Given the description of an element on the screen output the (x, y) to click on. 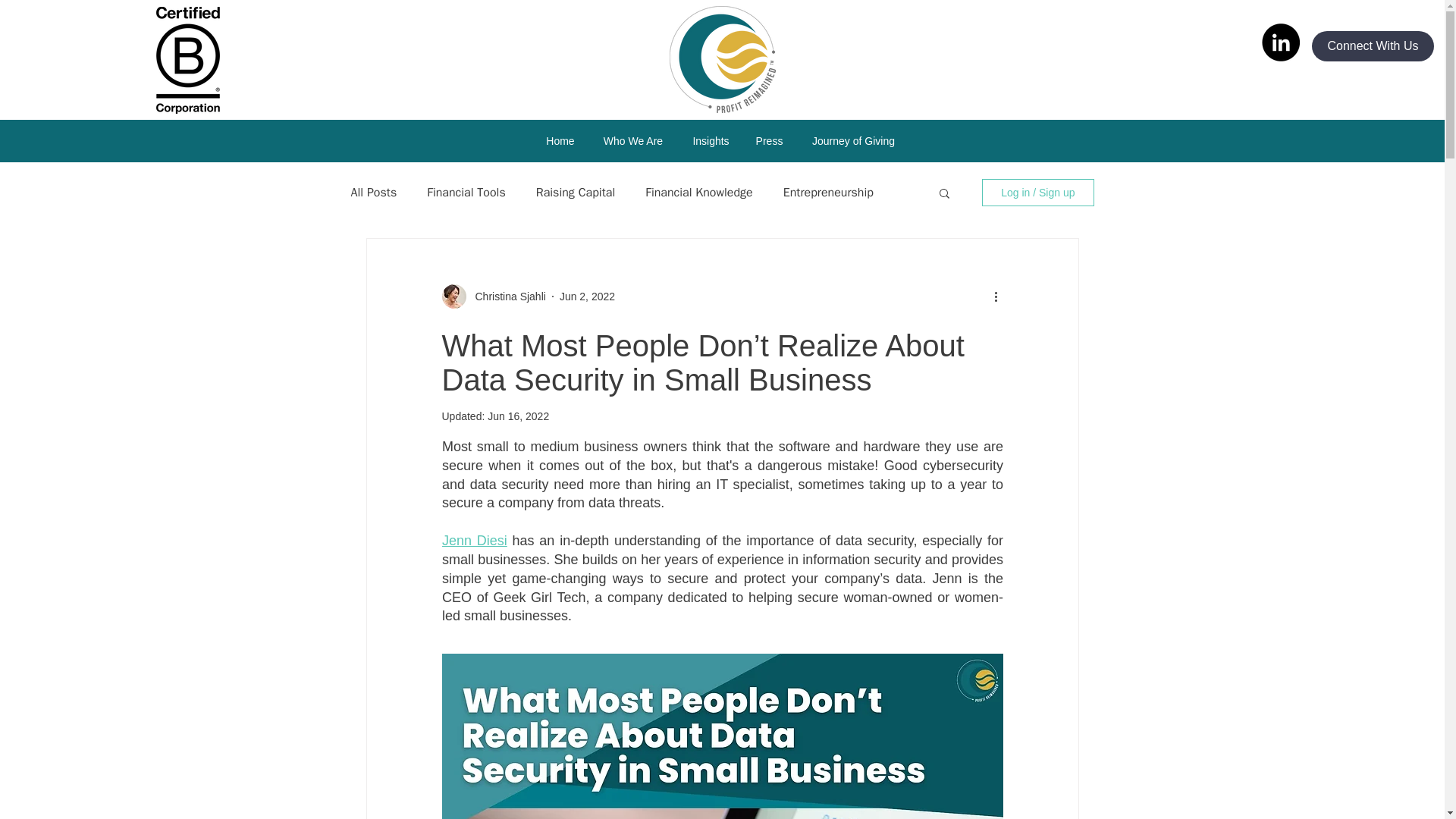
All Posts (373, 192)
Entrepreneurship (828, 192)
Jun 2, 2022 (586, 295)
Connect With Us (1372, 46)
Financial Tools (465, 192)
Jun 16, 2022 (517, 416)
Financial Knowledge (698, 192)
Christina Sjahli (504, 295)
Raising Capital (574, 192)
Who We Are (633, 140)
